Given the description of an element on the screen output the (x, y) to click on. 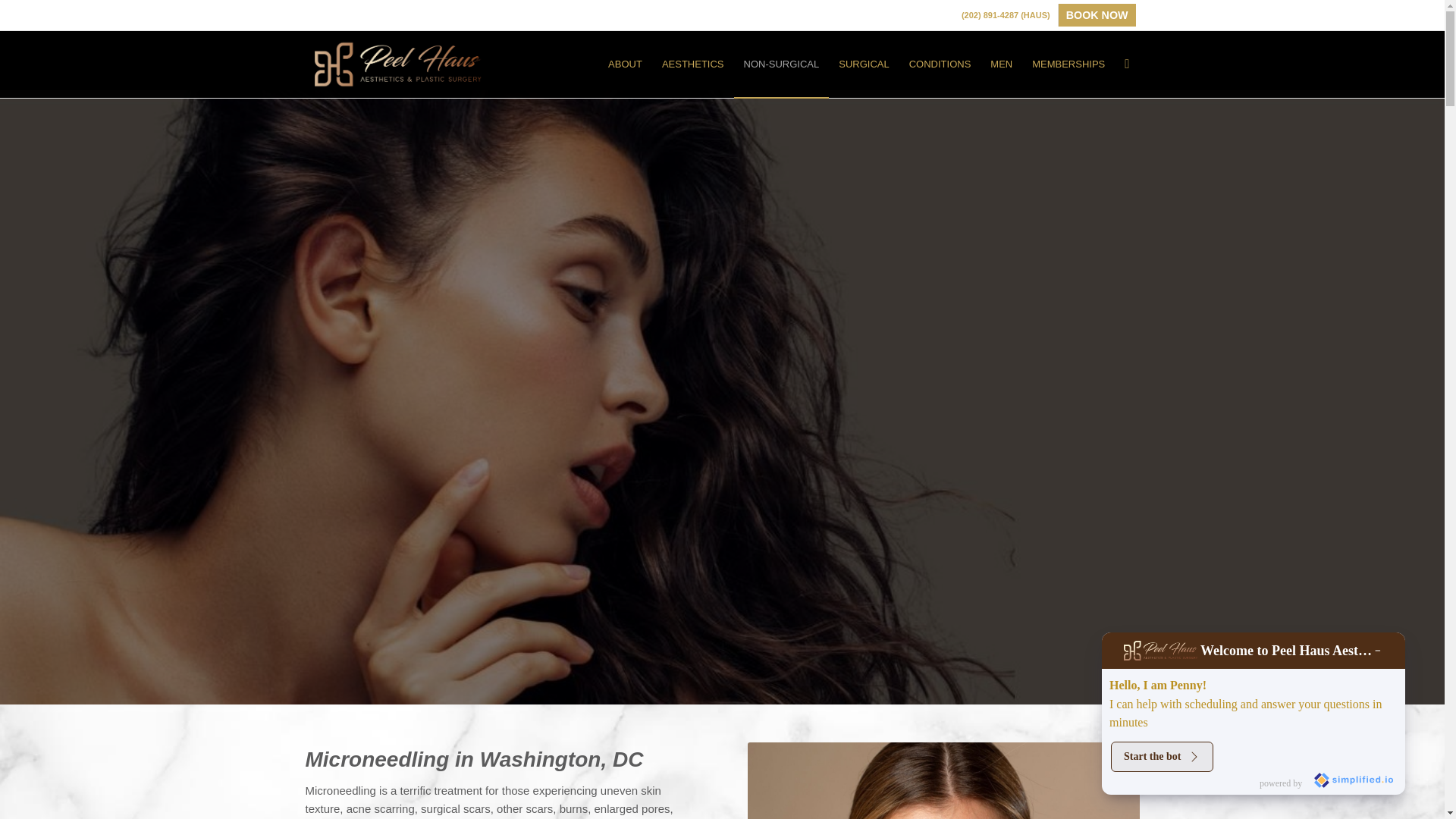
AESTHETICS (692, 64)
BOOK NOW (1096, 15)
NON-SURGICAL (781, 64)
SURGICAL (863, 64)
peelhaus logo 532 (397, 64)
